Given the description of an element on the screen output the (x, y) to click on. 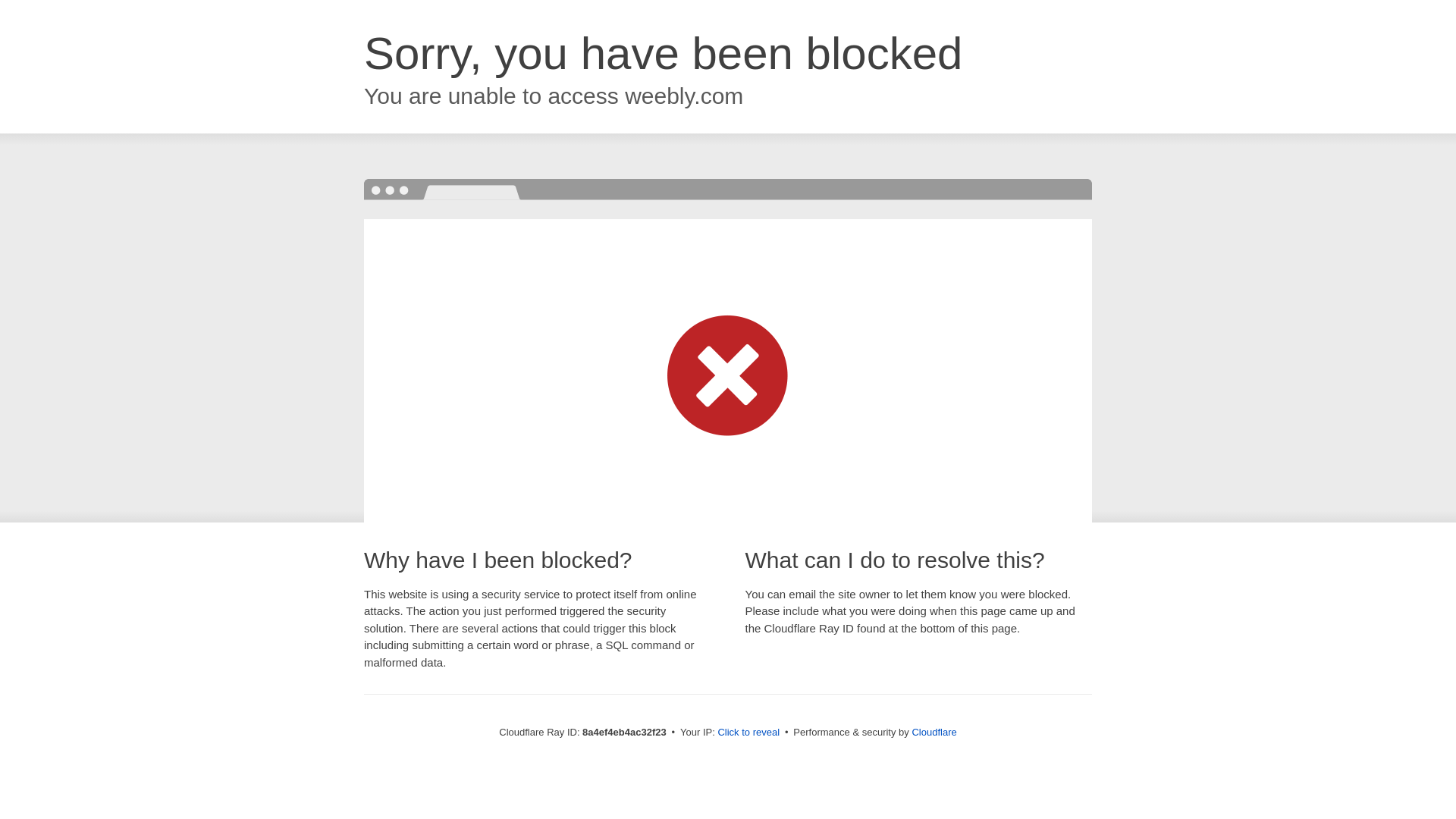
Click to reveal (747, 732)
Cloudflare (933, 731)
